Given the description of an element on the screen output the (x, y) to click on. 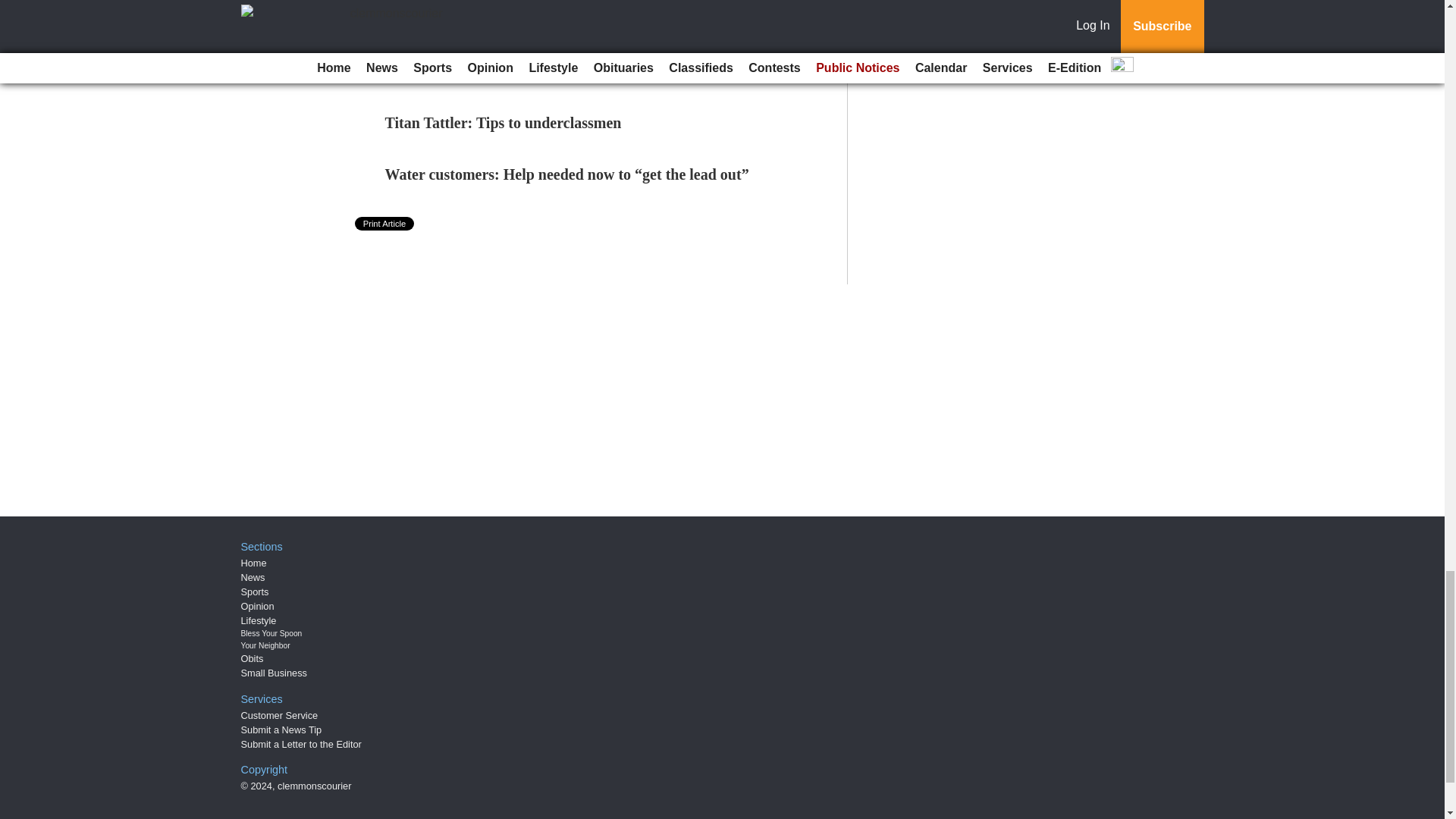
News (252, 577)
Cruise-in raises funds for local law enforcement (497, 7)
Home (253, 562)
Print Article (384, 223)
Titan Tattler: Tips to underclassmen (503, 122)
Cruise-in raises funds for local law enforcement (497, 7)
Titan Tattler: Tips to underclassmen (503, 122)
